Given the description of an element on the screen output the (x, y) to click on. 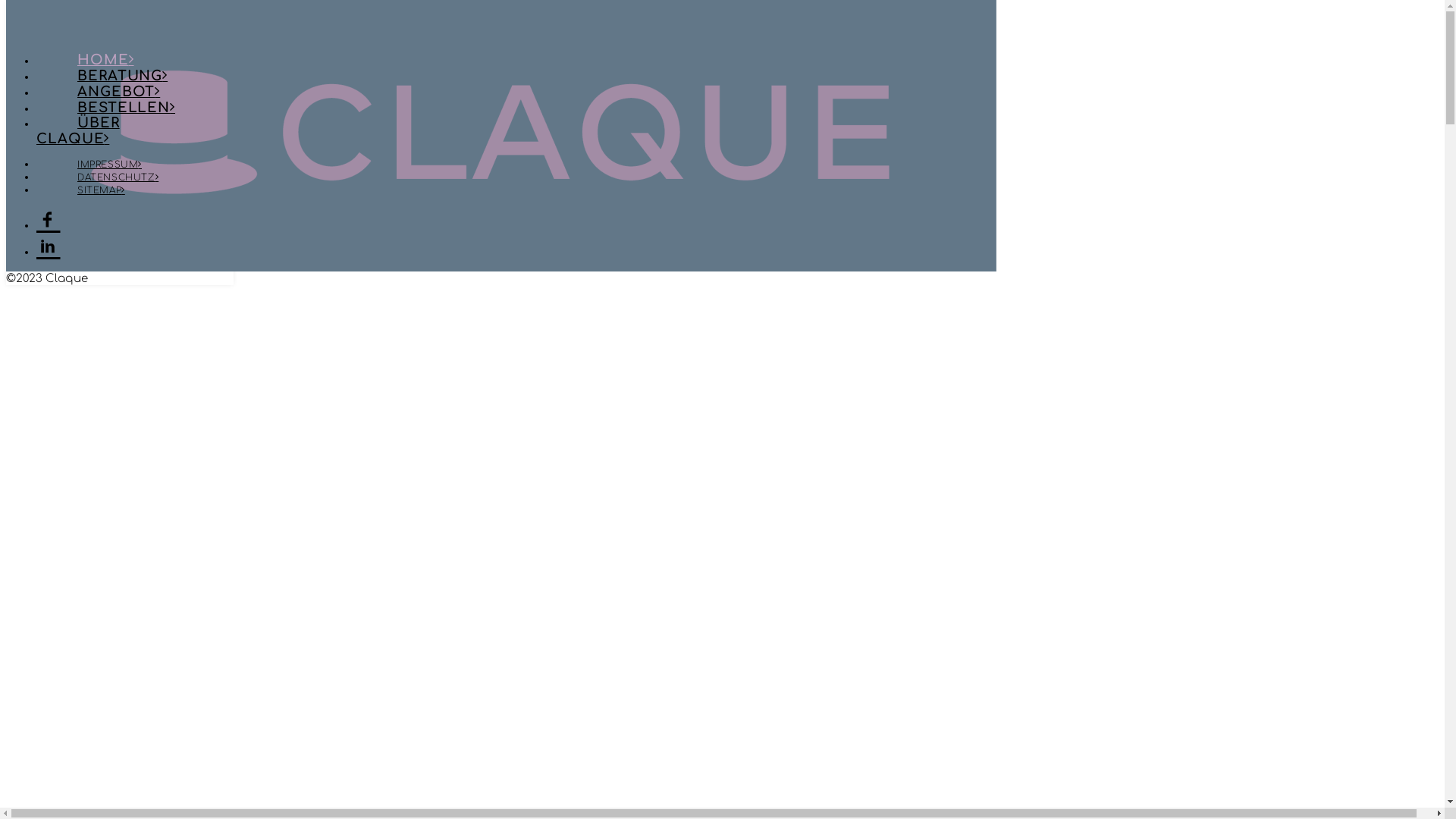
DATENSCHUTZ Element type: text (117, 177)
ANGEBOT Element type: text (118, 91)
HOME Element type: text (105, 59)
BERATUNG Element type: text (122, 75)
IMPRESSUM Element type: text (109, 164)
SITEMAP Element type: text (101, 190)
BESTELLEN Element type: text (126, 107)
